Given the description of an element on the screen output the (x, y) to click on. 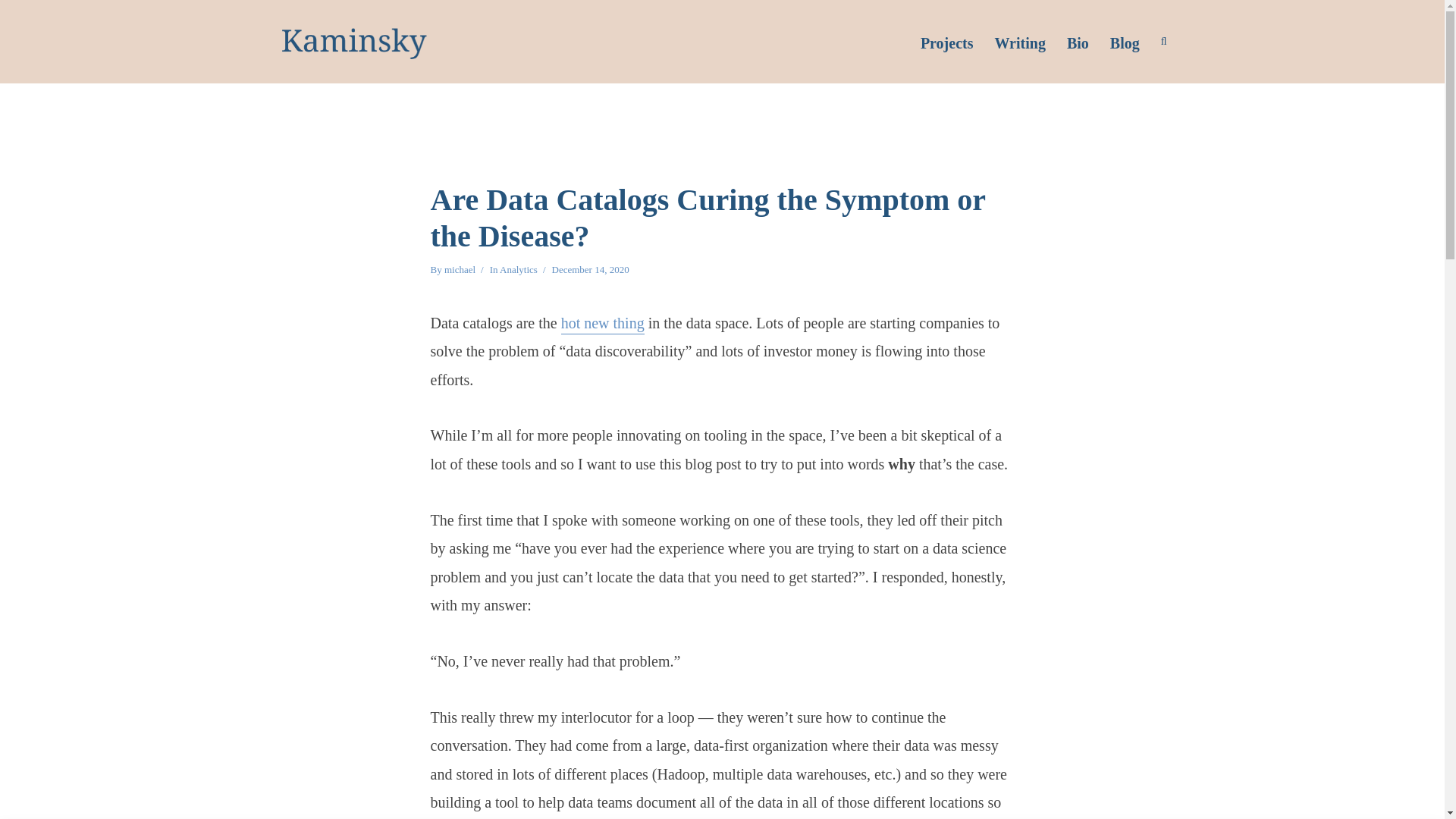
Analytics (518, 270)
Bio (1078, 40)
michael (460, 270)
Blog (1124, 40)
hot new thing (602, 324)
Writing (1019, 40)
Projects (947, 40)
